Given the description of an element on the screen output the (x, y) to click on. 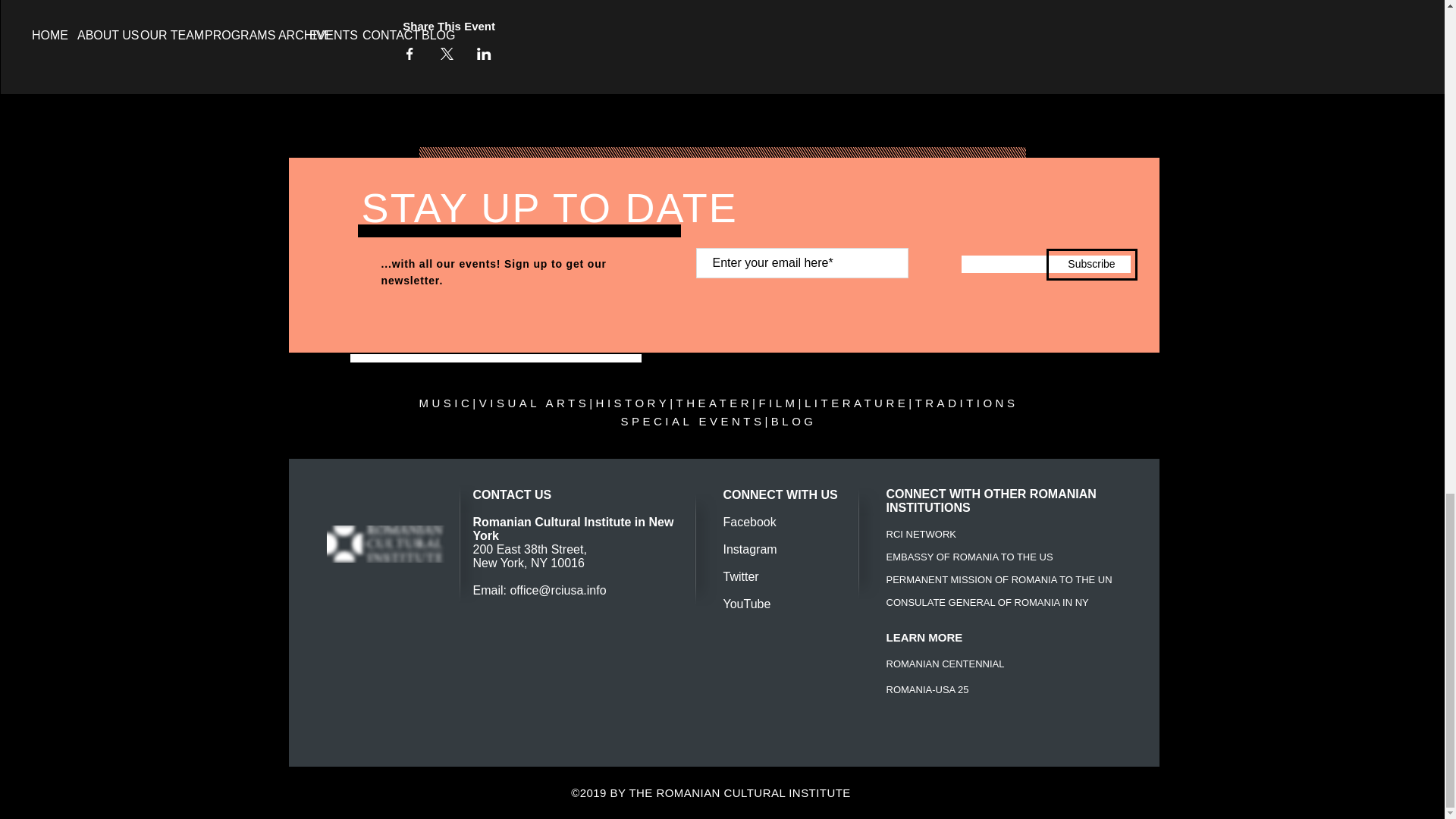
VISUAL ARTS (534, 402)
FILM (777, 402)
Subscribe (1091, 264)
HISTORY (632, 402)
THEATER (714, 402)
LITERATURE (856, 402)
MUSIC (446, 402)
